Given the description of an element on the screen output the (x, y) to click on. 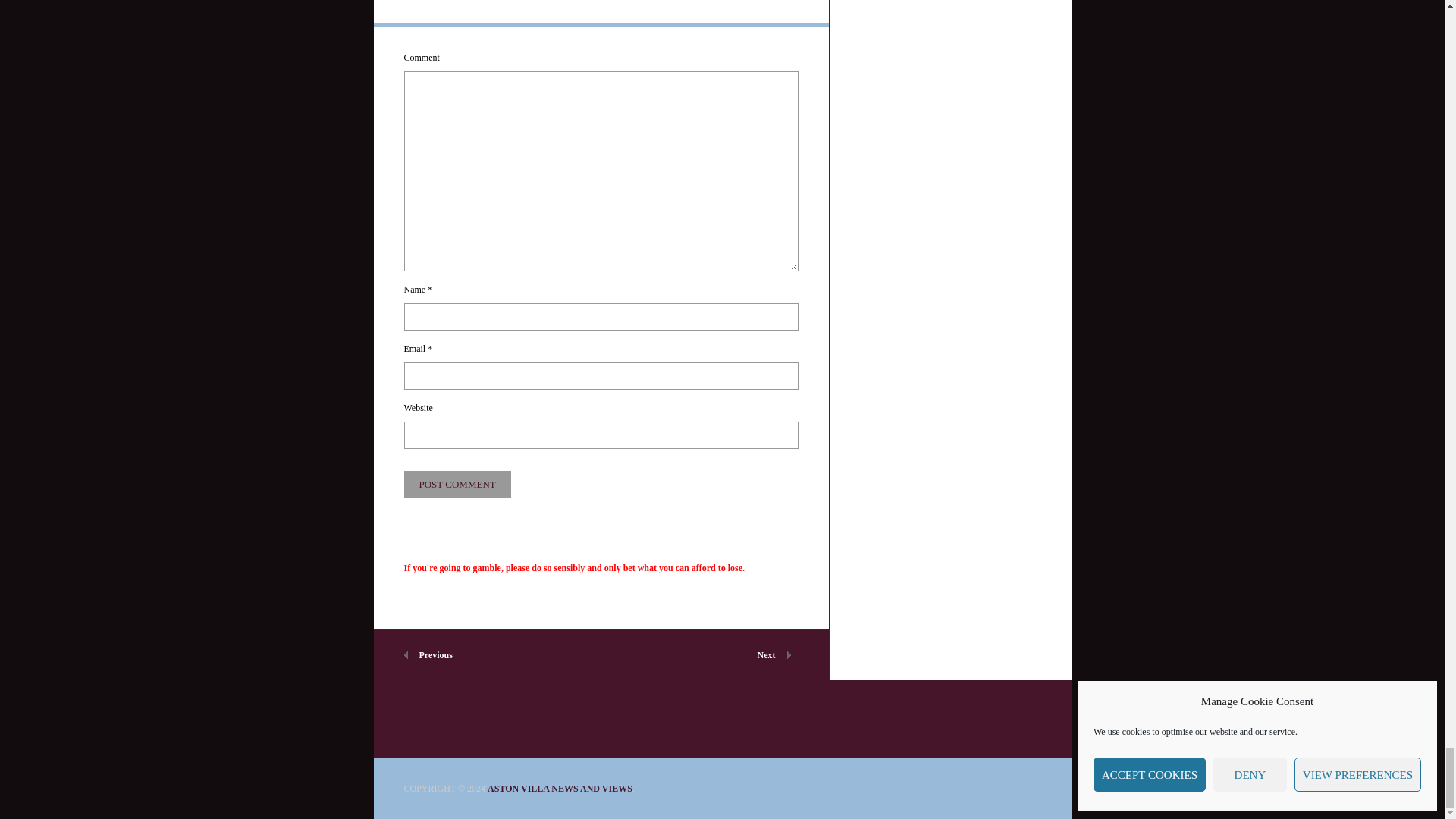
Post Comment (457, 483)
